Given the description of an element on the screen output the (x, y) to click on. 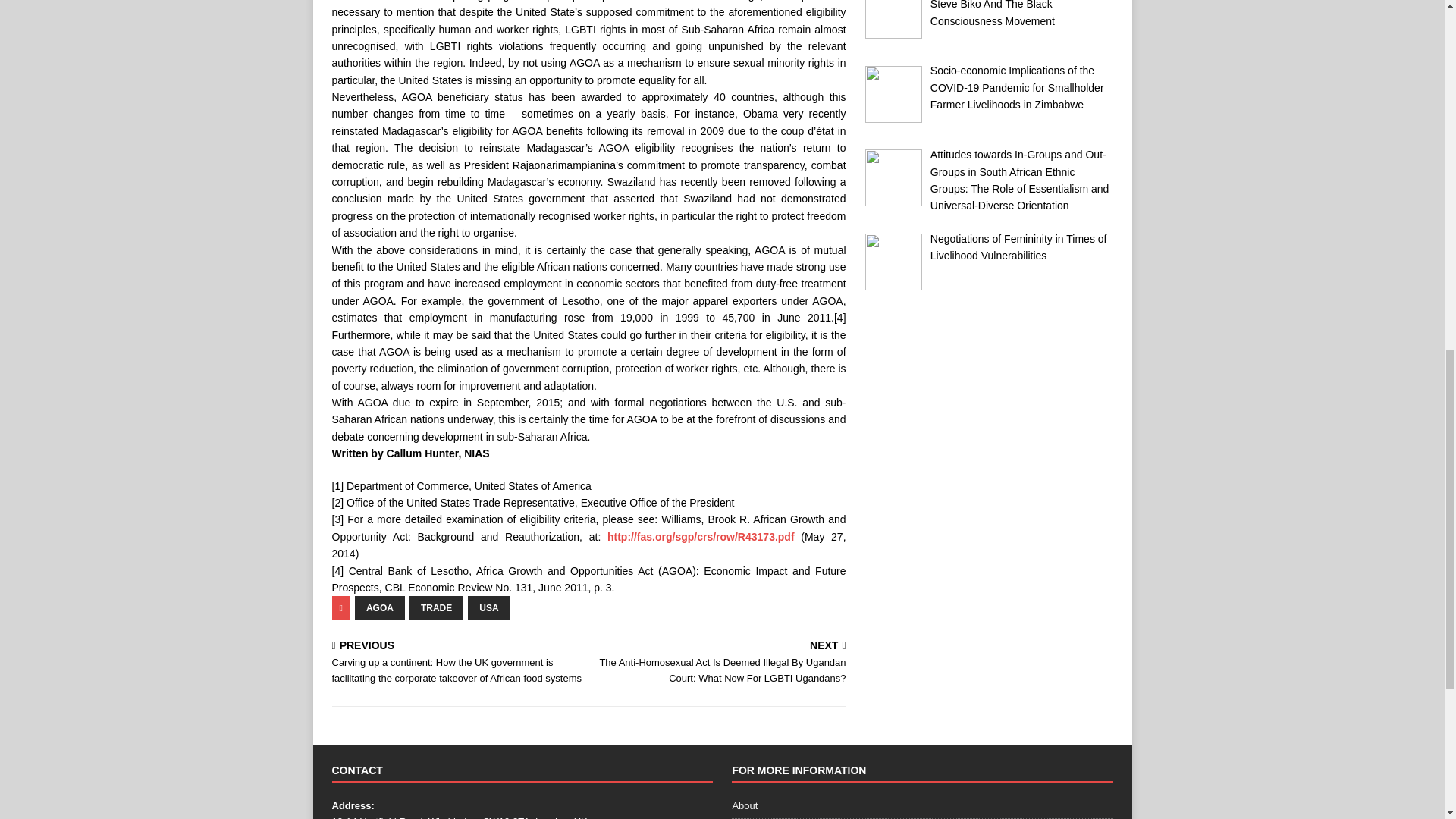
AGOA (379, 607)
TRADE (436, 607)
USA (488, 607)
